Given the description of an element on the screen output the (x, y) to click on. 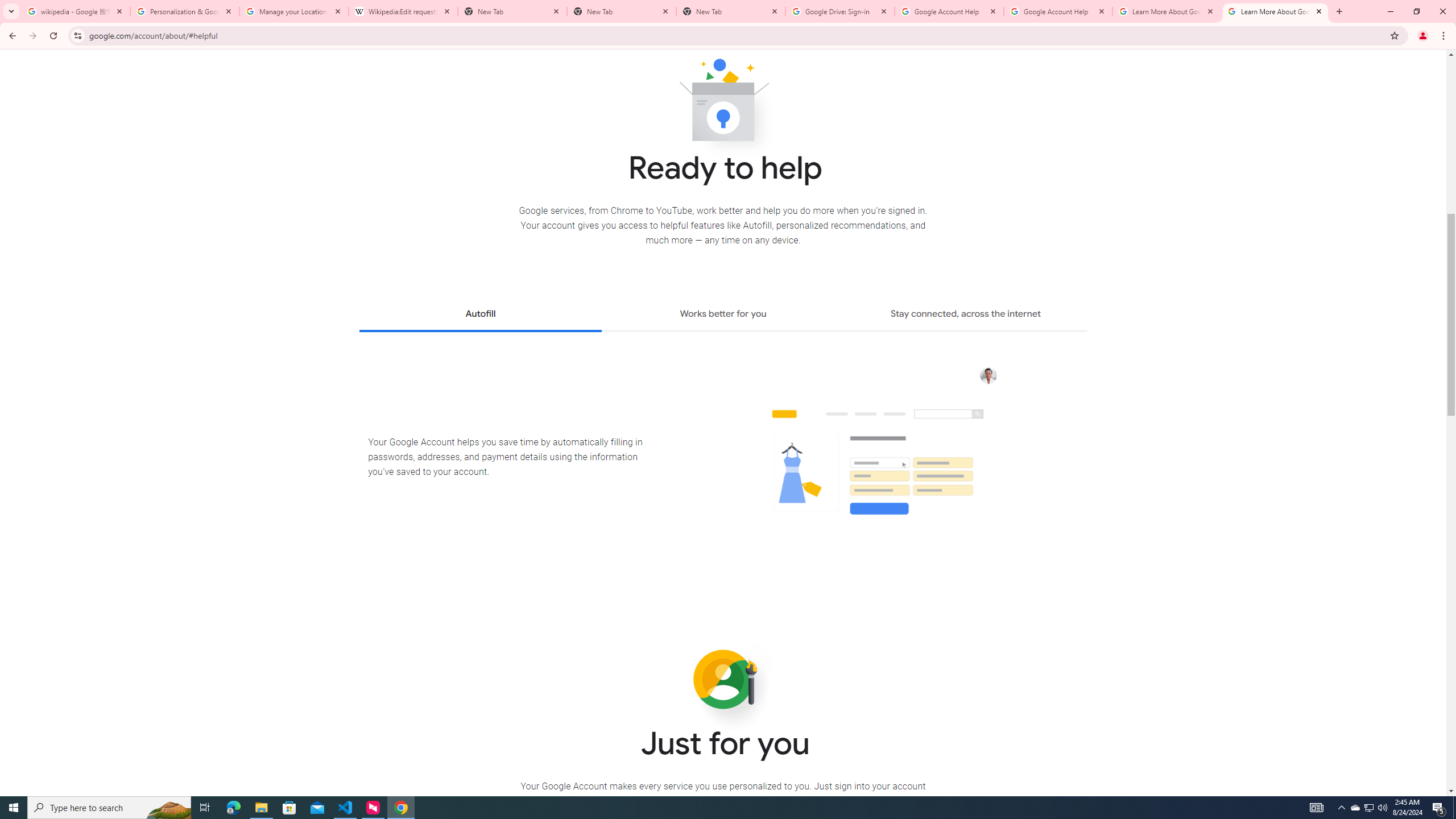
Wikipedia:Edit requests - Wikipedia (403, 11)
Google Account Help (949, 11)
Personalization & Google Search results - Google Search Help (184, 11)
New Tab (621, 11)
New Tab (730, 11)
Ready to help (722, 103)
